Given the description of an element on the screen output the (x, y) to click on. 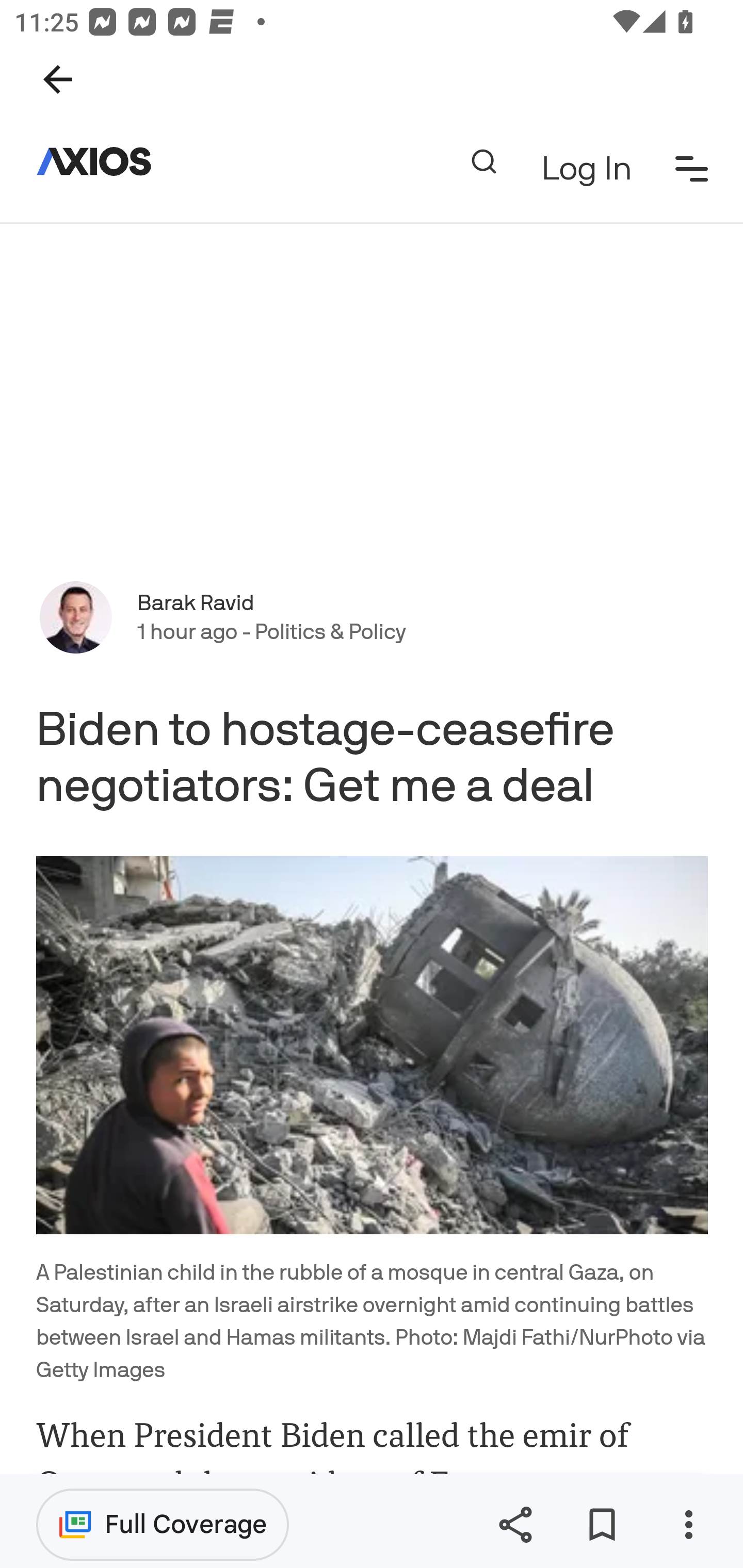
Navigate up (57, 79)
Axios Homepage (101, 161)
Search Page (482, 161)
Log In (586, 168)
Section Menu (692, 168)
Barak Ravid (195, 602)
Politics & Policy (329, 631)
Share (514, 1524)
Save for later (601, 1524)
More options (688, 1524)
Full Coverage (162, 1524)
